Given the description of an element on the screen output the (x, y) to click on. 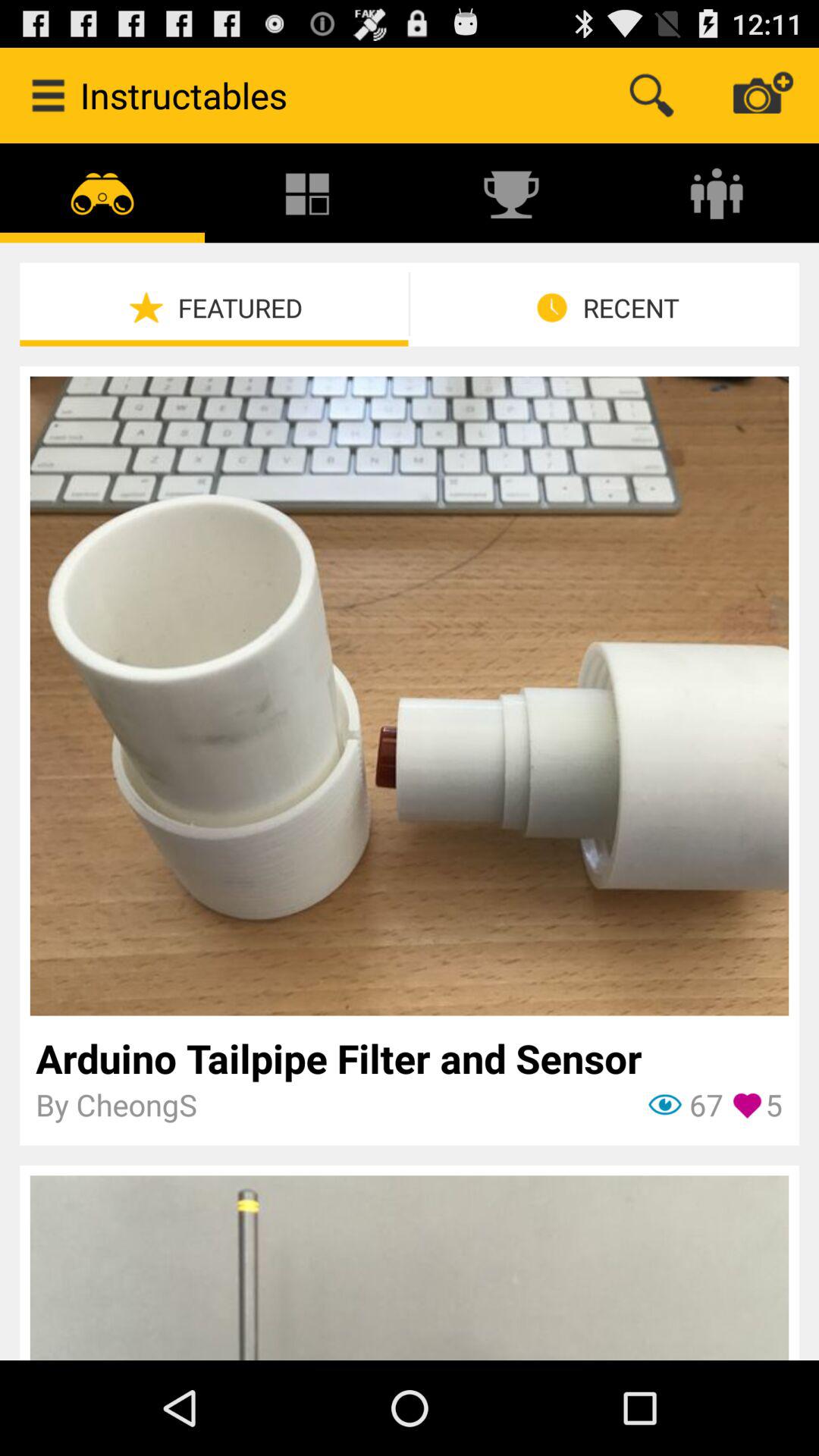
turn on item above 5 (408, 1057)
